Given the description of an element on the screen output the (x, y) to click on. 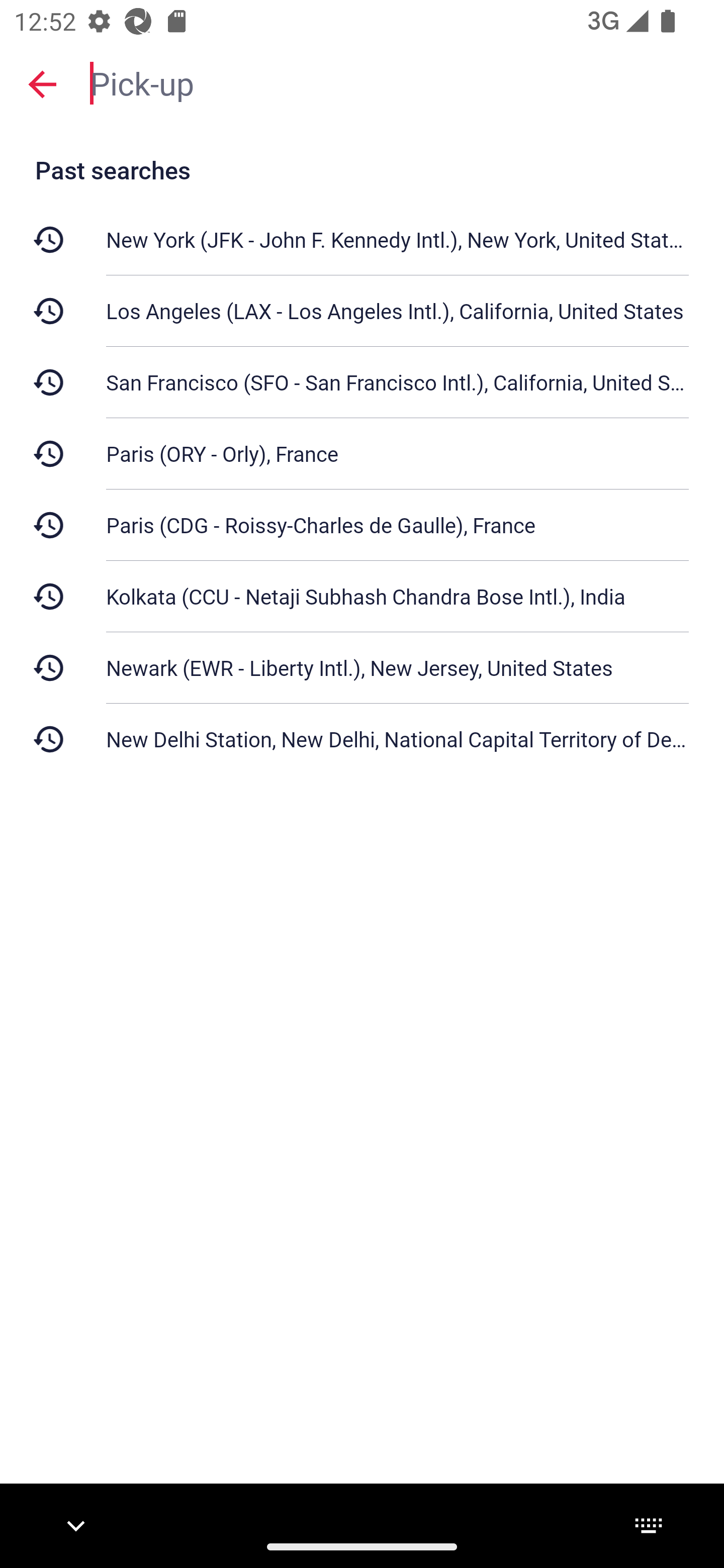
Close search screen (42, 84)
Pick-up,  (397, 82)
